Given the description of an element on the screen output the (x, y) to click on. 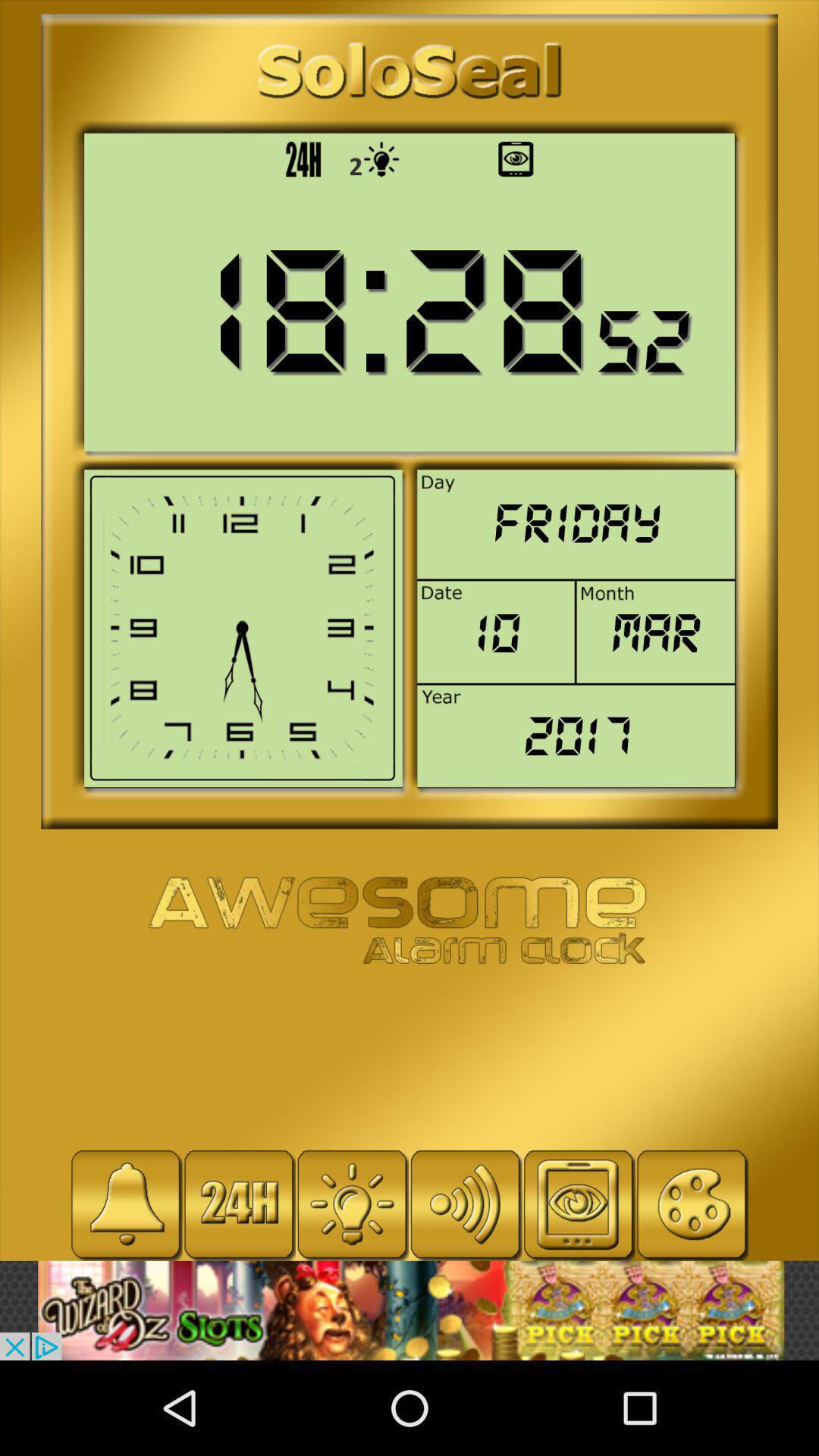
visit the advertiser 's website (409, 1310)
